Given the description of an element on the screen output the (x, y) to click on. 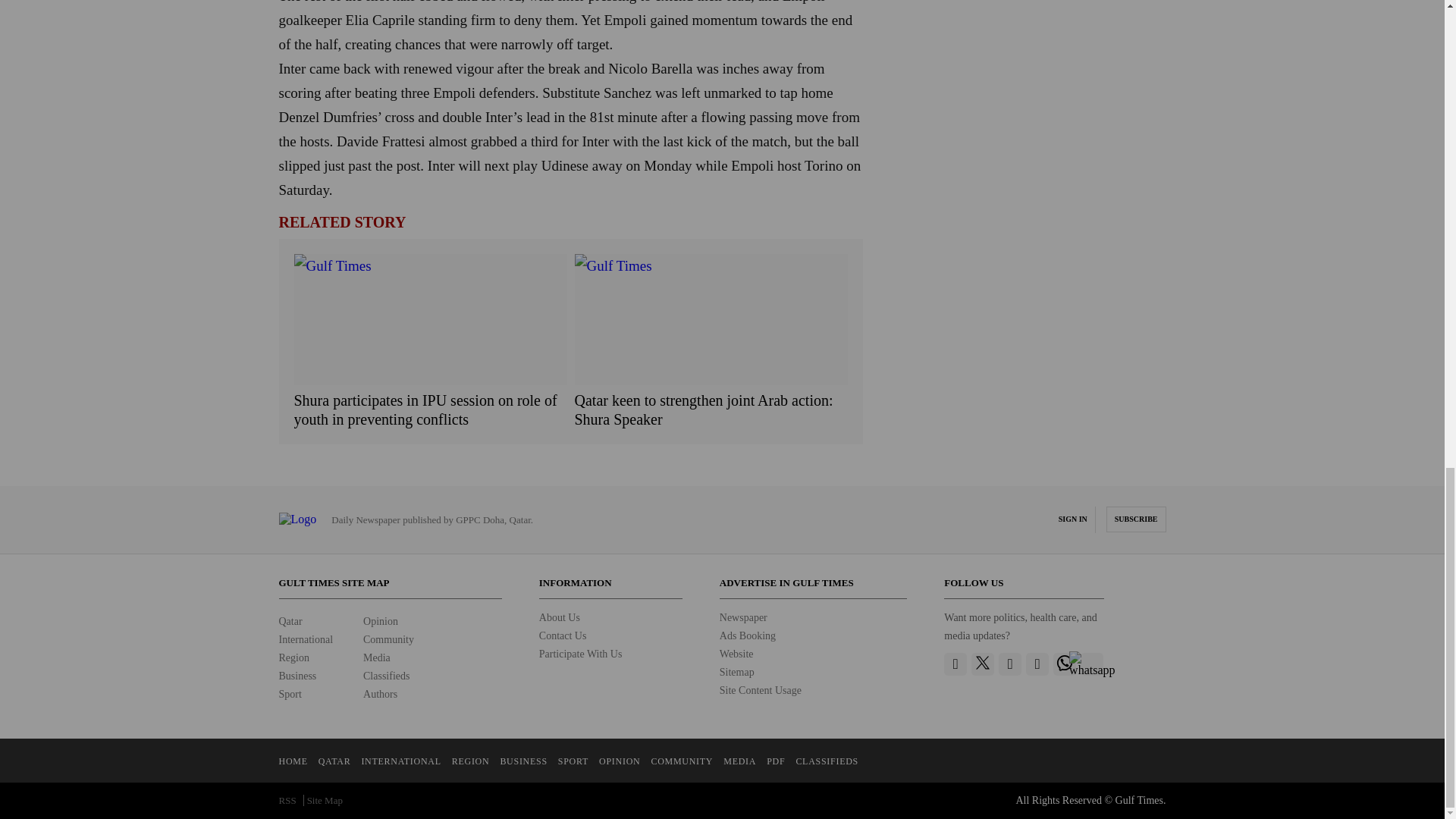
Business (298, 675)
Qatar keen to strengthen joint Arab action: Shura Speaker (711, 410)
Community (387, 639)
International (306, 639)
Qatar (290, 621)
SIGN IN (1072, 519)
Classifieds (385, 675)
SUBSCRIBE (1136, 519)
Authors (379, 694)
